Given the description of an element on the screen output the (x, y) to click on. 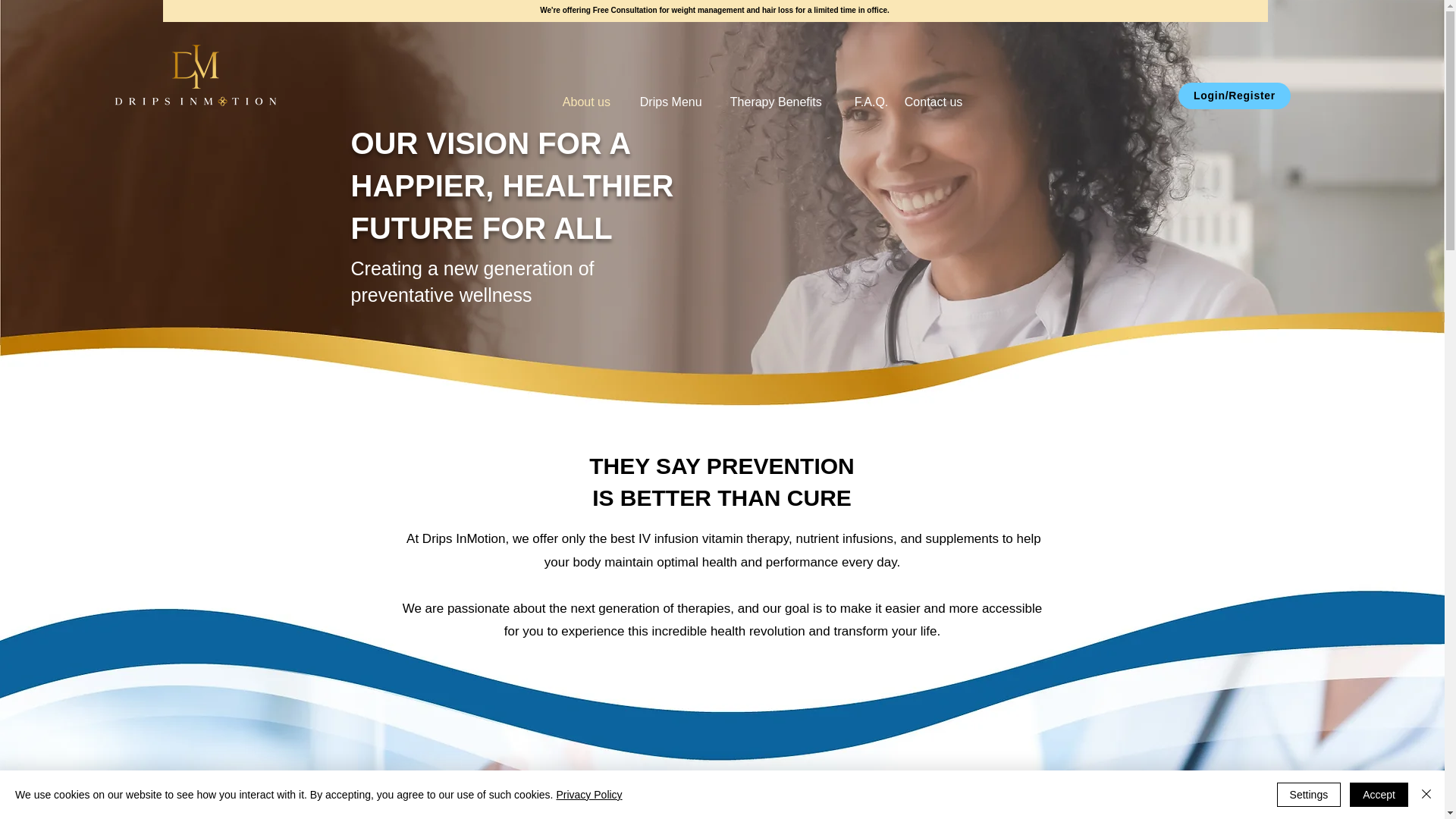
Contact us (939, 102)
Drips Menu (673, 102)
F.A.Q. (868, 102)
About us (589, 102)
Accept (1378, 794)
Therapy Benefits (781, 102)
Settings (1308, 794)
Logo-White-Gold.png (195, 72)
Privacy Policy (588, 794)
